Given the description of an element on the screen output the (x, y) to click on. 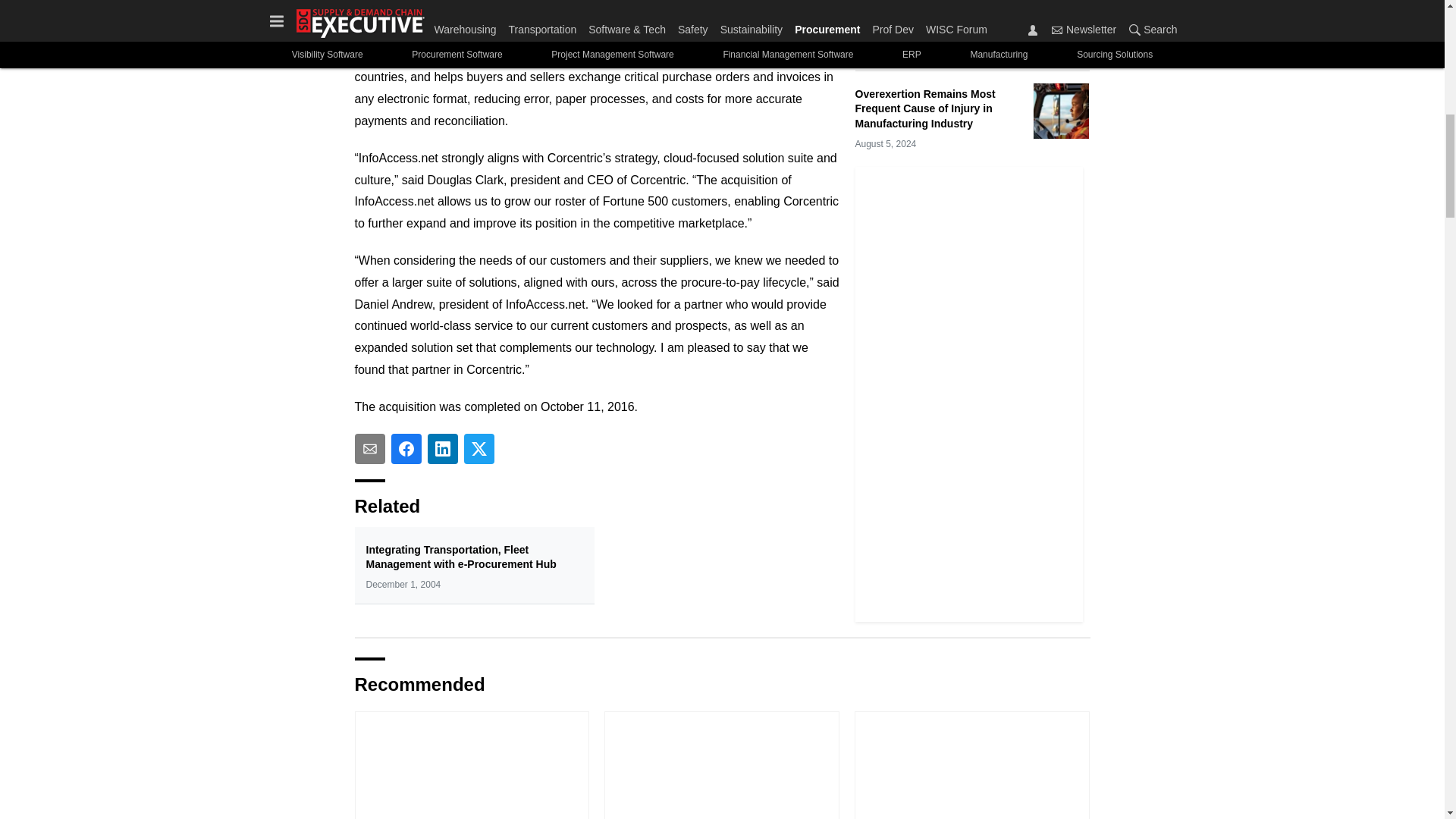
Share To facebook (406, 449)
Share To twitter (479, 449)
Share To email (370, 449)
Share To linkedin (443, 449)
